Given the description of an element on the screen output the (x, y) to click on. 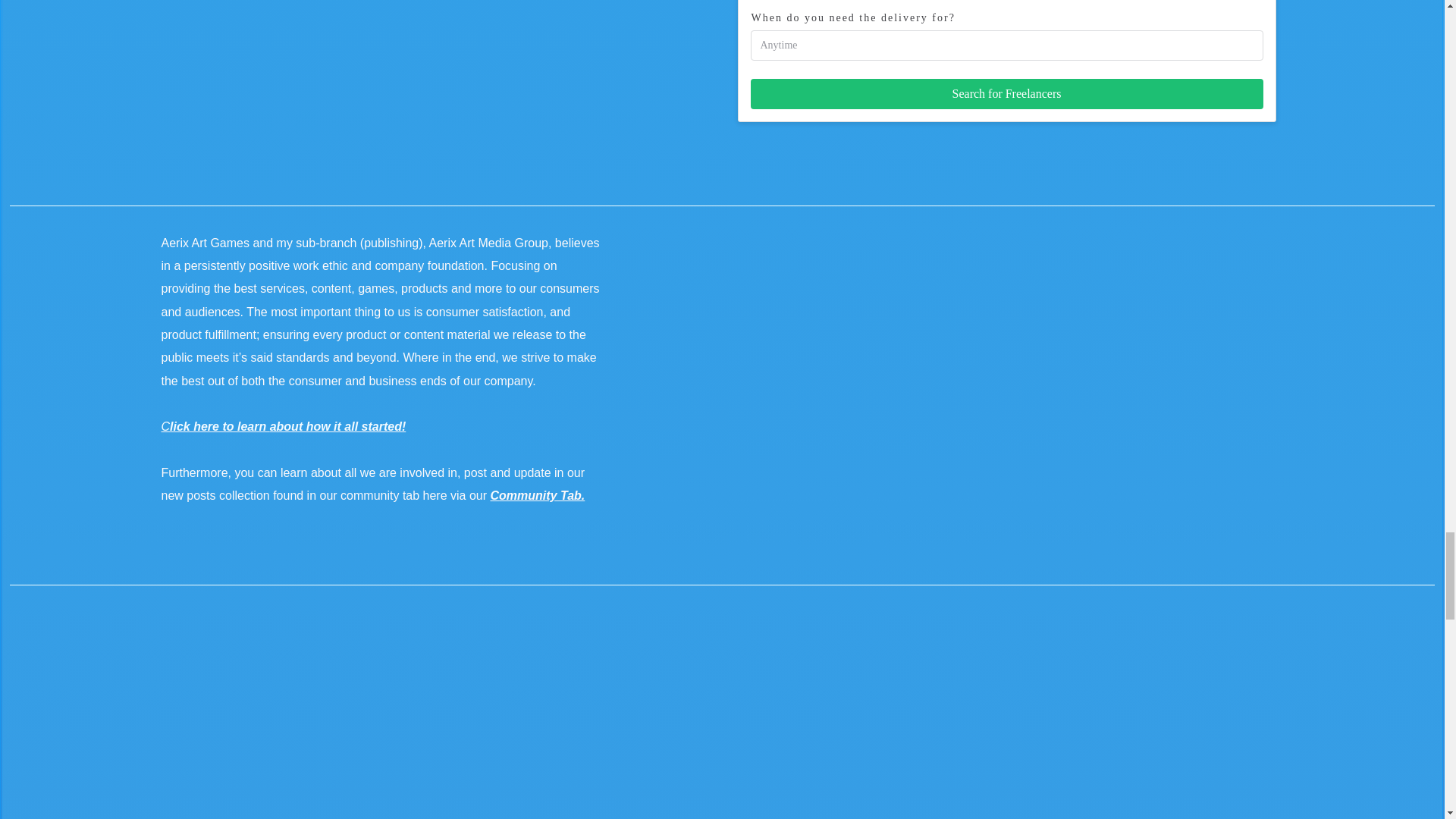
Search for Freelancers (1007, 93)
